Given the description of an element on the screen output the (x, y) to click on. 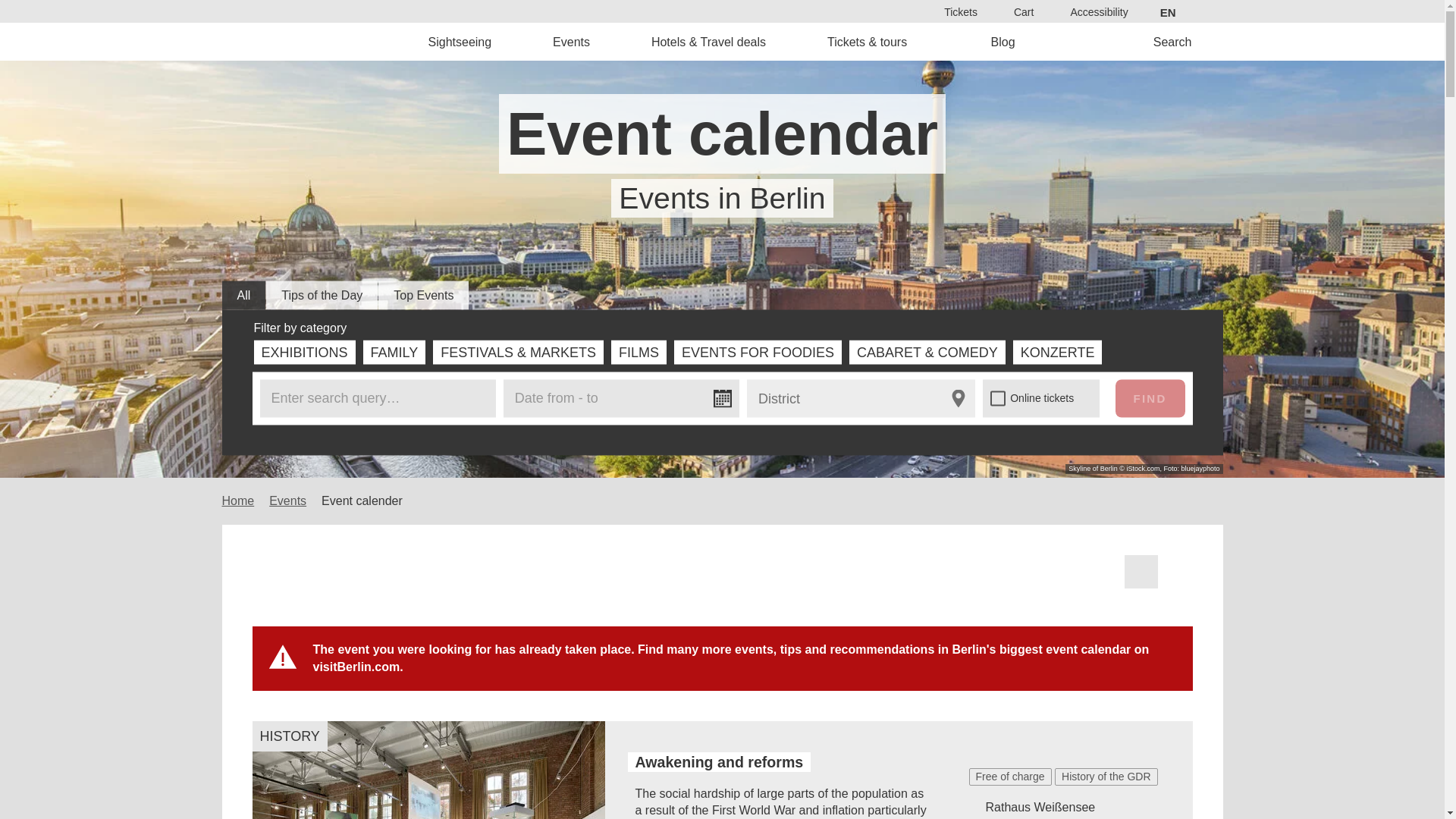
Find (768, 432)
Sightseeing (460, 41)
Events (571, 41)
Home (327, 41)
Find (1150, 397)
